Given the description of an element on the screen output the (x, y) to click on. 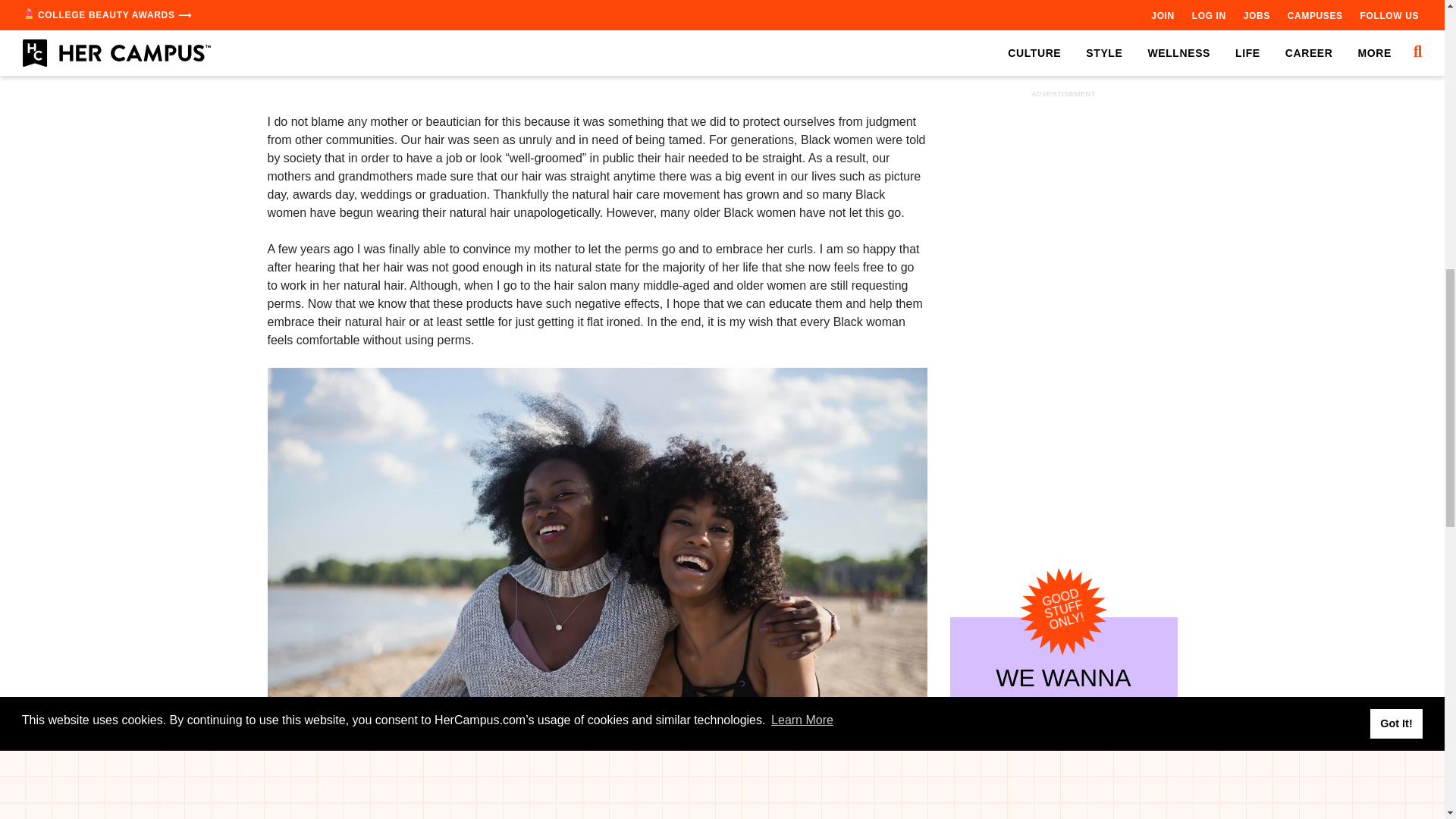
3rd party ad content (1062, 105)
3rd party ad content (597, 60)
